Given the description of an element on the screen output the (x, y) to click on. 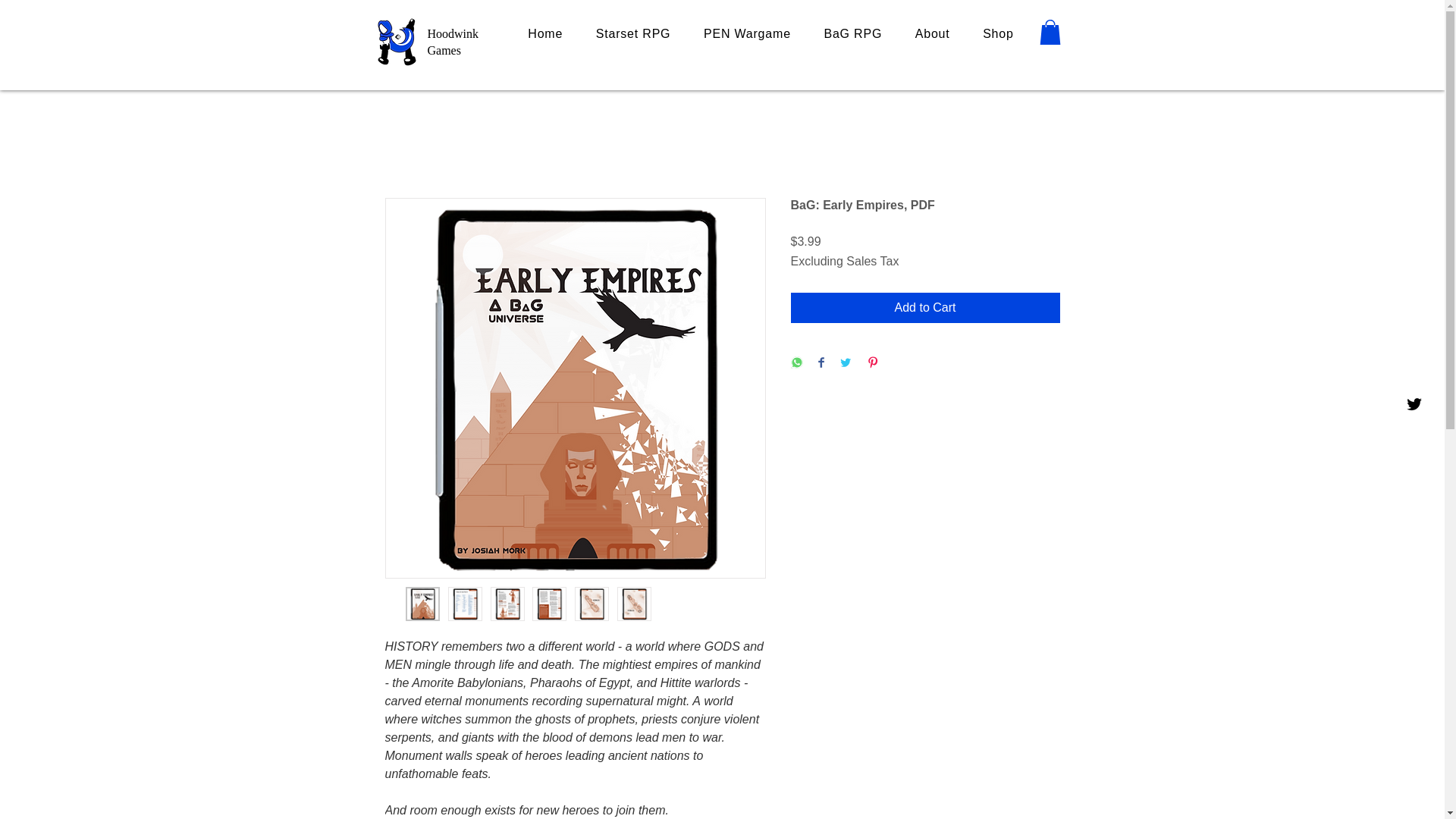
Shop (997, 33)
Home (544, 33)
Add to Cart (924, 307)
PEN Wargame (746, 33)
